Given the description of an element on the screen output the (x, y) to click on. 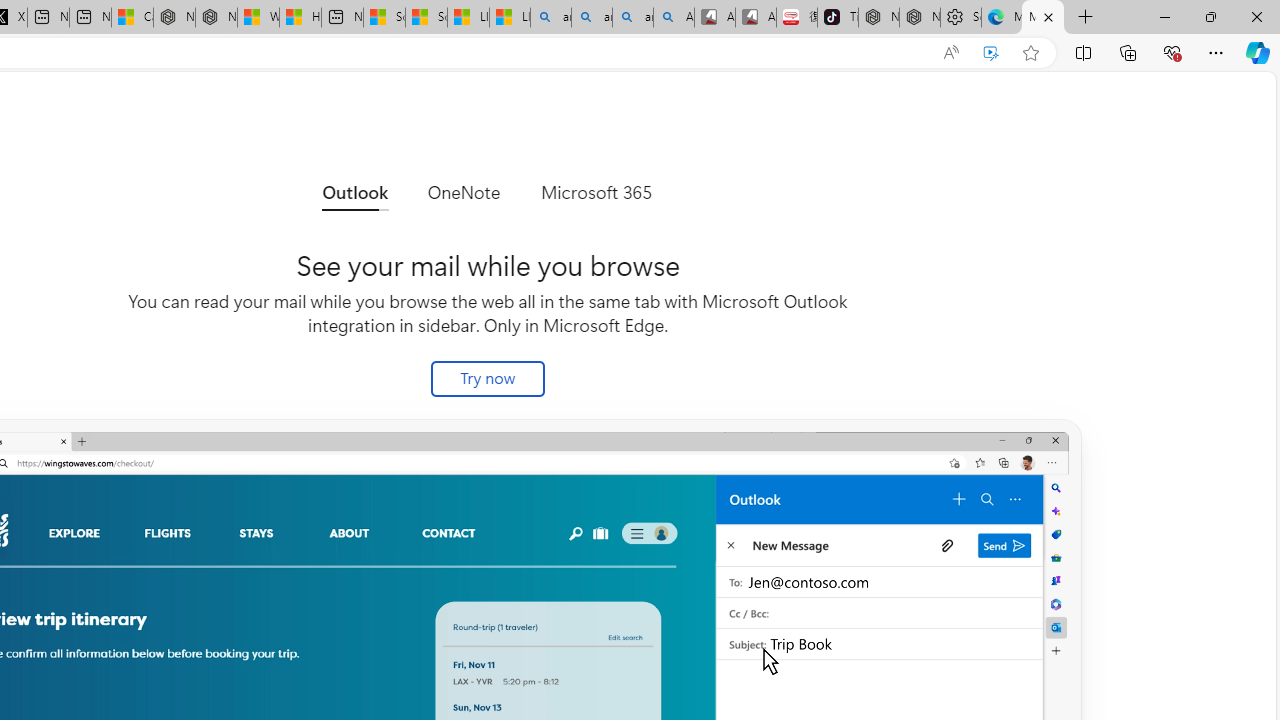
Amazon Echo Robot - Search Images (673, 17)
